Given the description of an element on the screen output the (x, y) to click on. 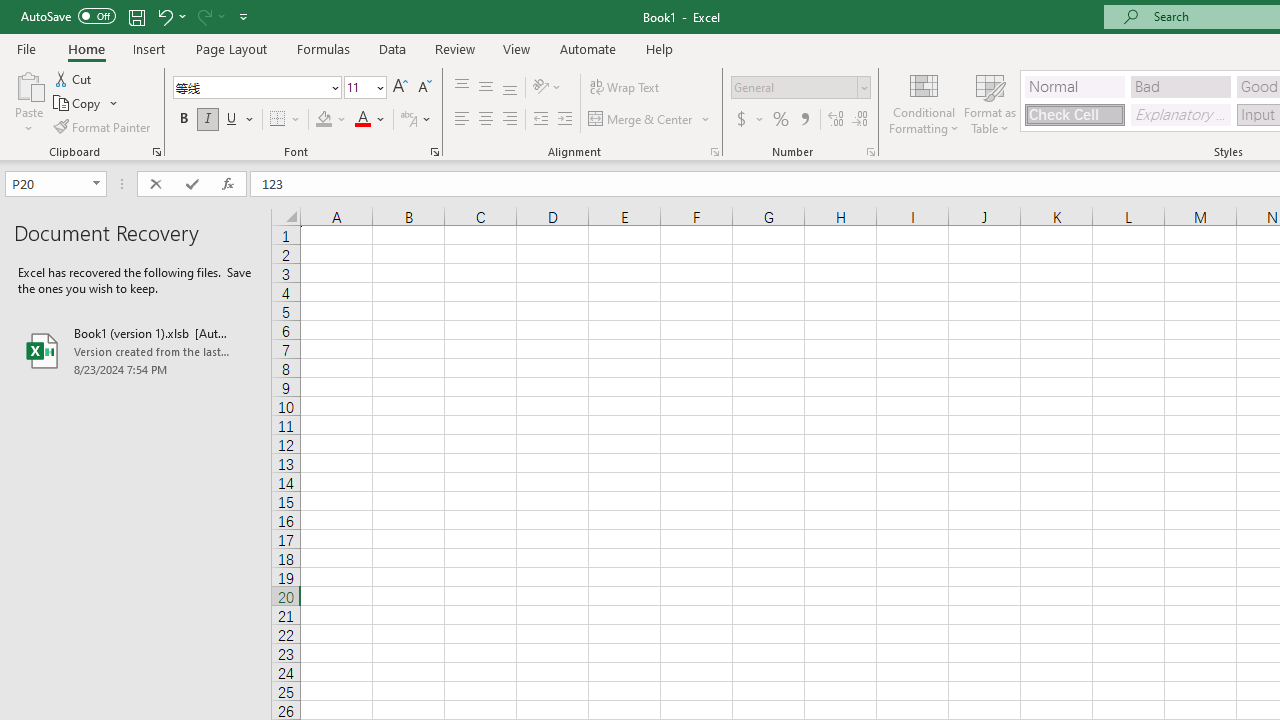
Decrease Font Size (424, 87)
Quick Access Toolbar (136, 16)
Accounting Number Format (741, 119)
Italic (207, 119)
